Given the description of an element on the screen output the (x, y) to click on. 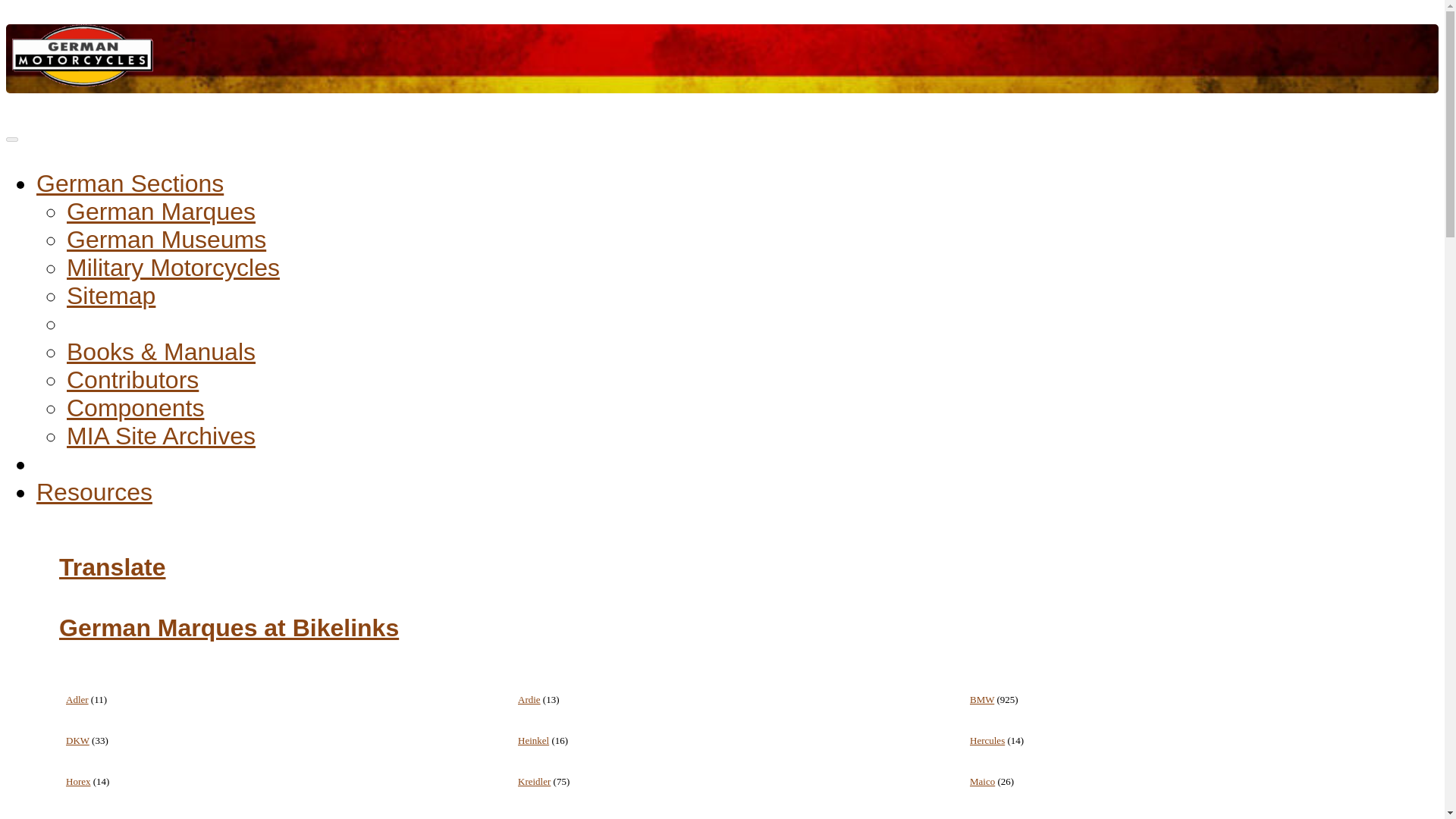
Hercules (986, 740)
Components (134, 407)
Military Motorcycles (172, 267)
BMW (981, 699)
German Motorcycles WWII (172, 267)
Heinkel (533, 740)
German Marques at Bikelinks (228, 627)
Maico (981, 781)
MIA Site Archives (161, 435)
NSU (979, 817)
Horex (77, 781)
Sitemap (110, 295)
German Museums (166, 239)
Munch (79, 817)
Translate (112, 566)
